Given the description of an element on the screen output the (x, y) to click on. 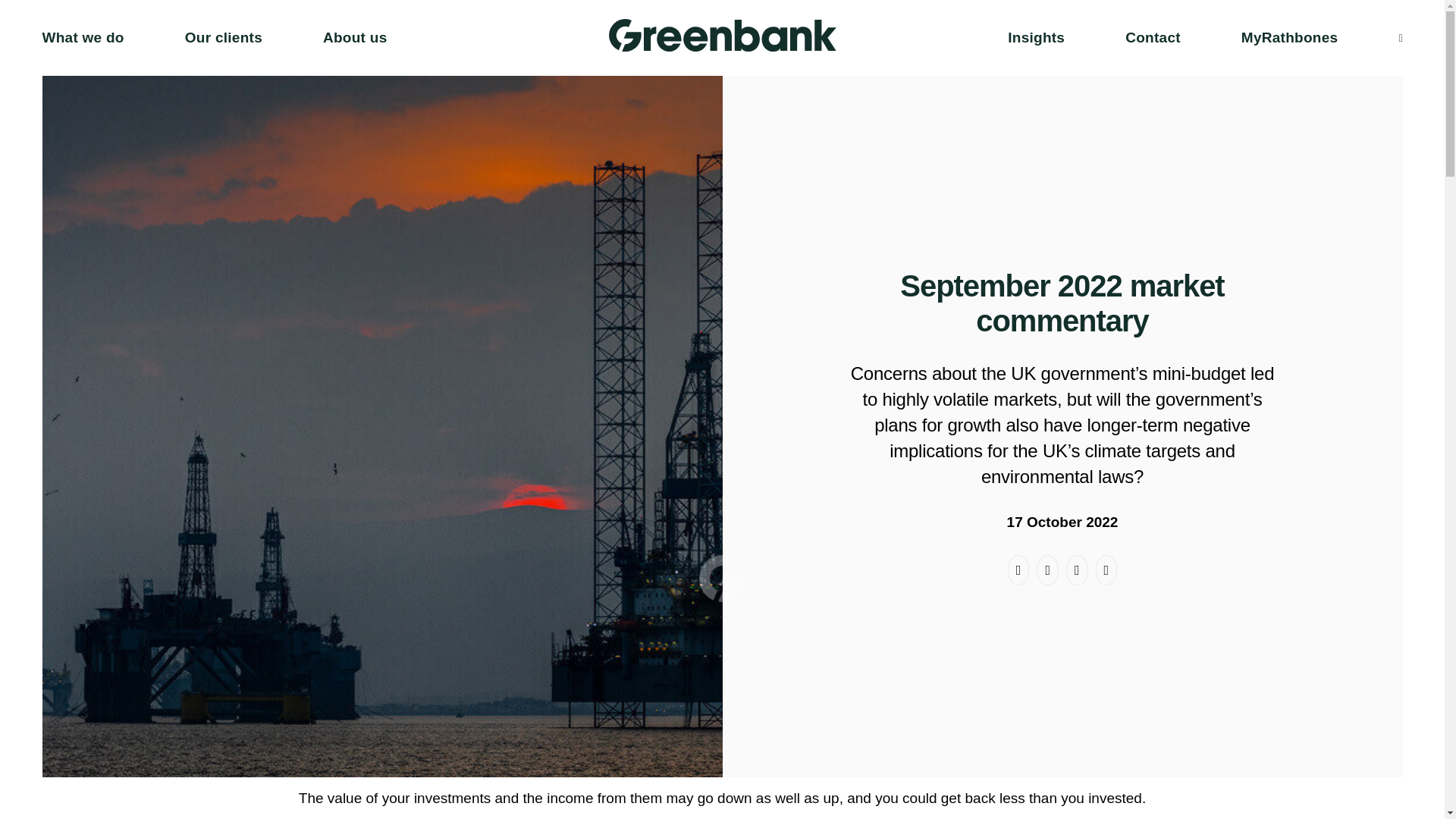
Our clients (223, 38)
About us (355, 38)
Contact (1152, 38)
What we do (82, 38)
Insights (1035, 38)
